Given the description of an element on the screen output the (x, y) to click on. 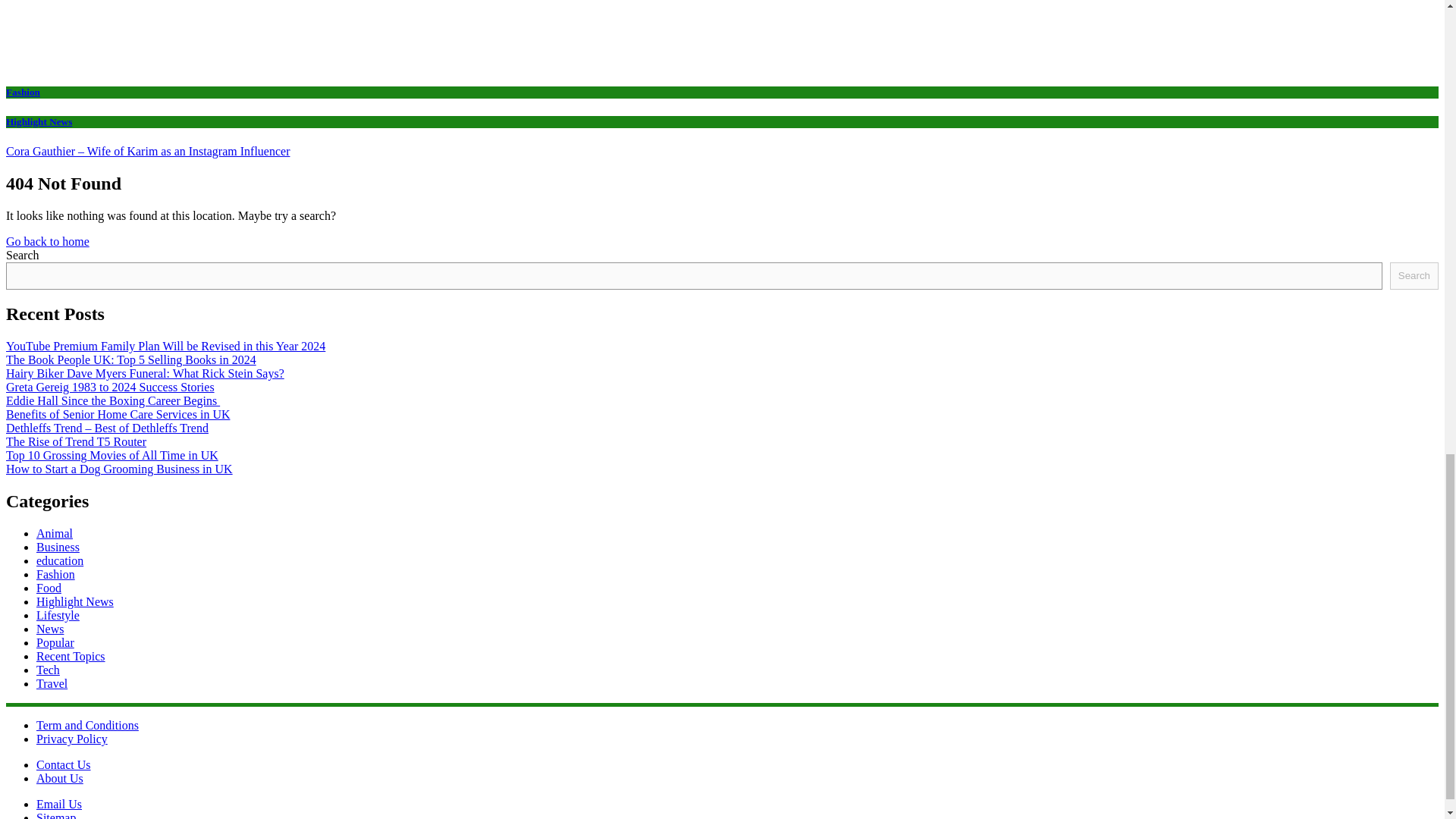
Fashion (55, 574)
Hairy Biker Dave Myers Funeral: What Rick Stein Says? (144, 373)
Highlight News (74, 601)
Eddie Hall Since the Boxing Career Begins  (112, 400)
Top 10 Grossing Movies of All Time in UK (111, 454)
Benefits of Senior Home Care Services in UK (117, 413)
Animal (54, 533)
News (50, 628)
Fashion (22, 91)
education (59, 560)
Highlight News (38, 121)
Business (58, 546)
Go back to home (46, 241)
Food (48, 587)
Greta Gereig 1983 to 2024 Success Stories (109, 386)
